Given the description of an element on the screen output the (x, y) to click on. 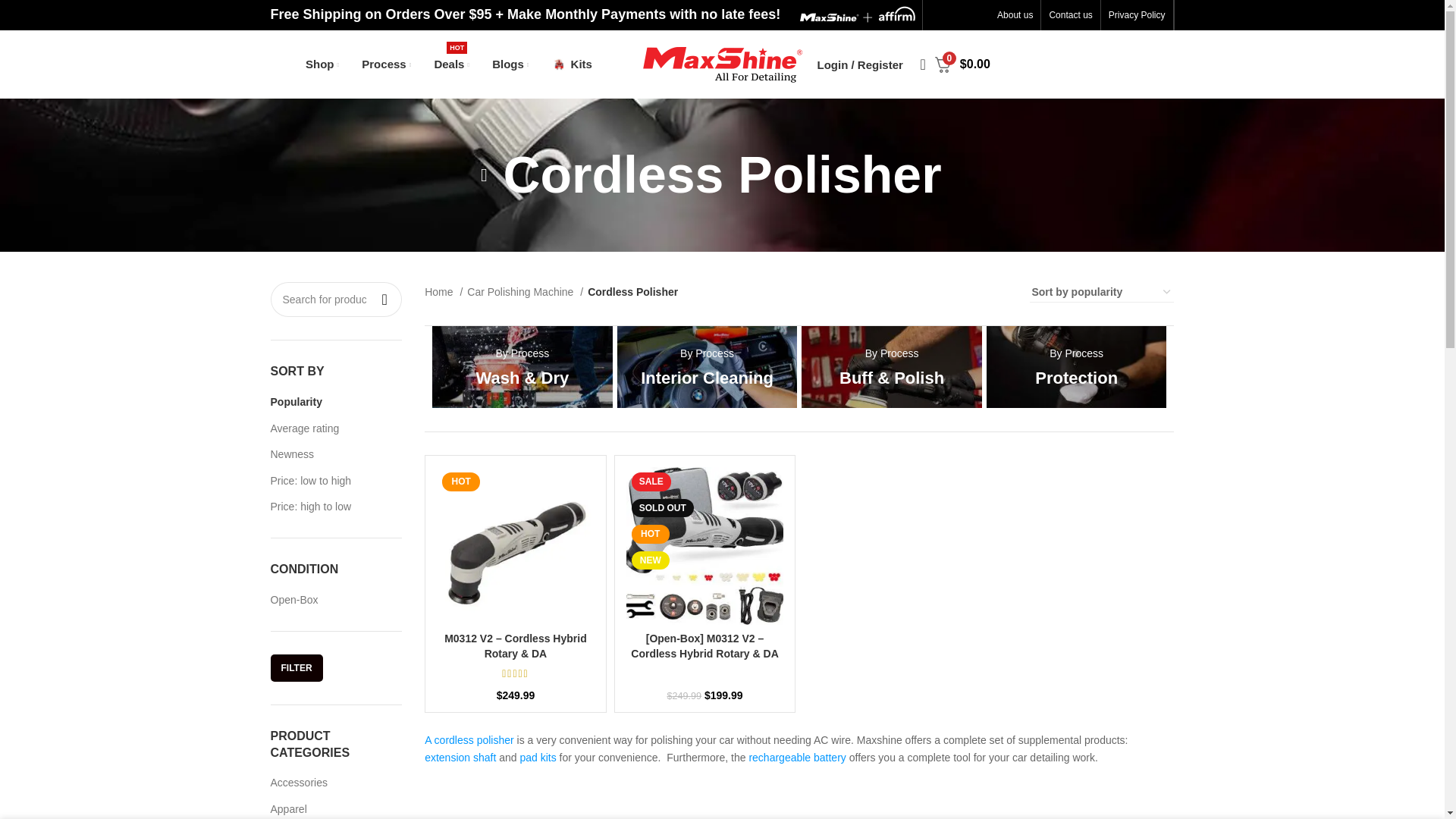
About us (1014, 15)
Privacy Policy (1137, 15)
Return Policy (1139, 46)
Shop (322, 64)
Search for products (335, 298)
Contact us (1070, 15)
My account (860, 64)
